Given the description of an element on the screen output the (x, y) to click on. 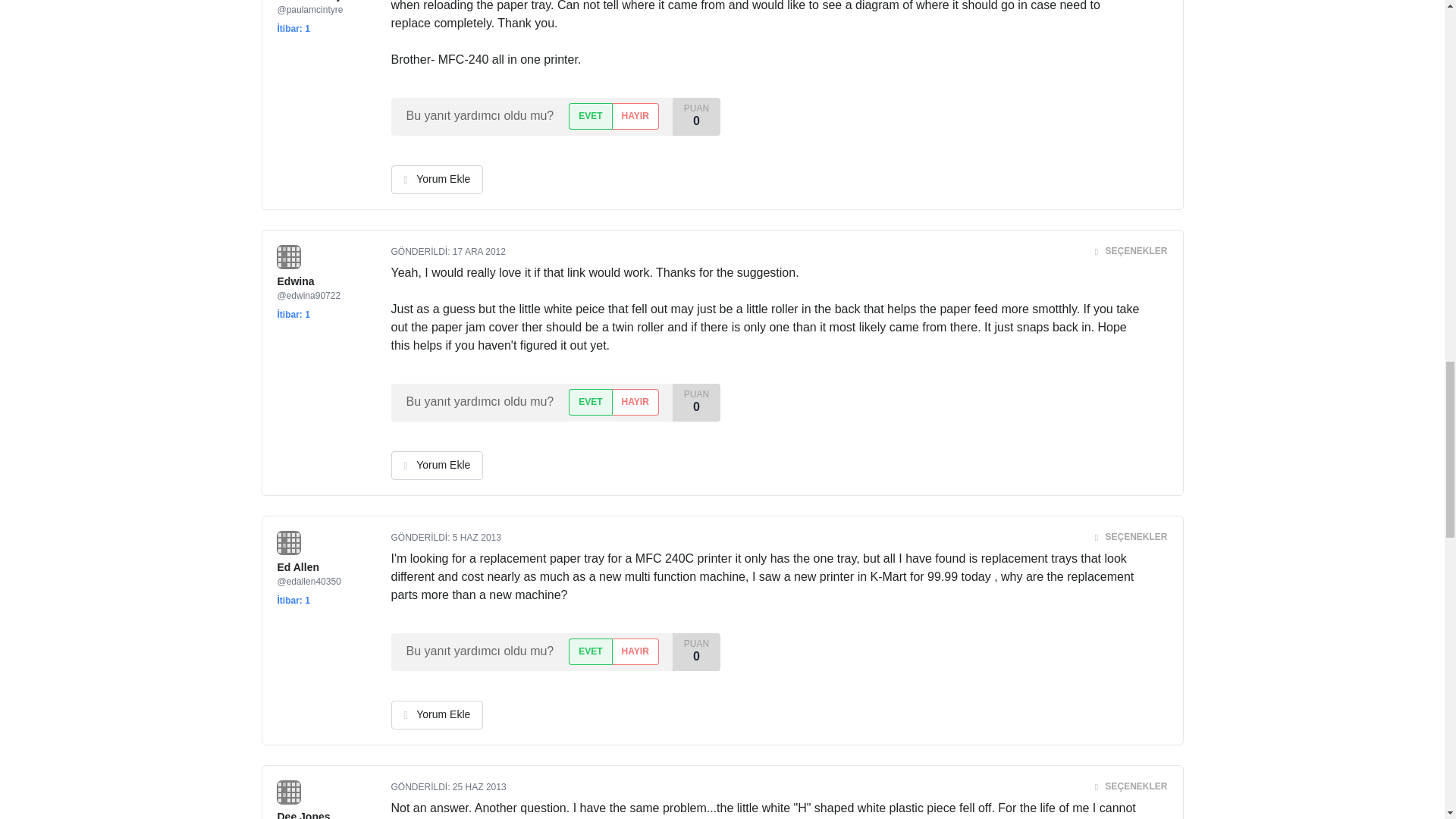
Wed, 05 Jun 2013 17:41:46 -0700 (476, 537)
Tue, 25 Jun 2013 07:06:40 -0700 (479, 787)
Mon, 17 Dec 2012 14:02:10 -0700 (478, 251)
